Given the description of an element on the screen output the (x, y) to click on. 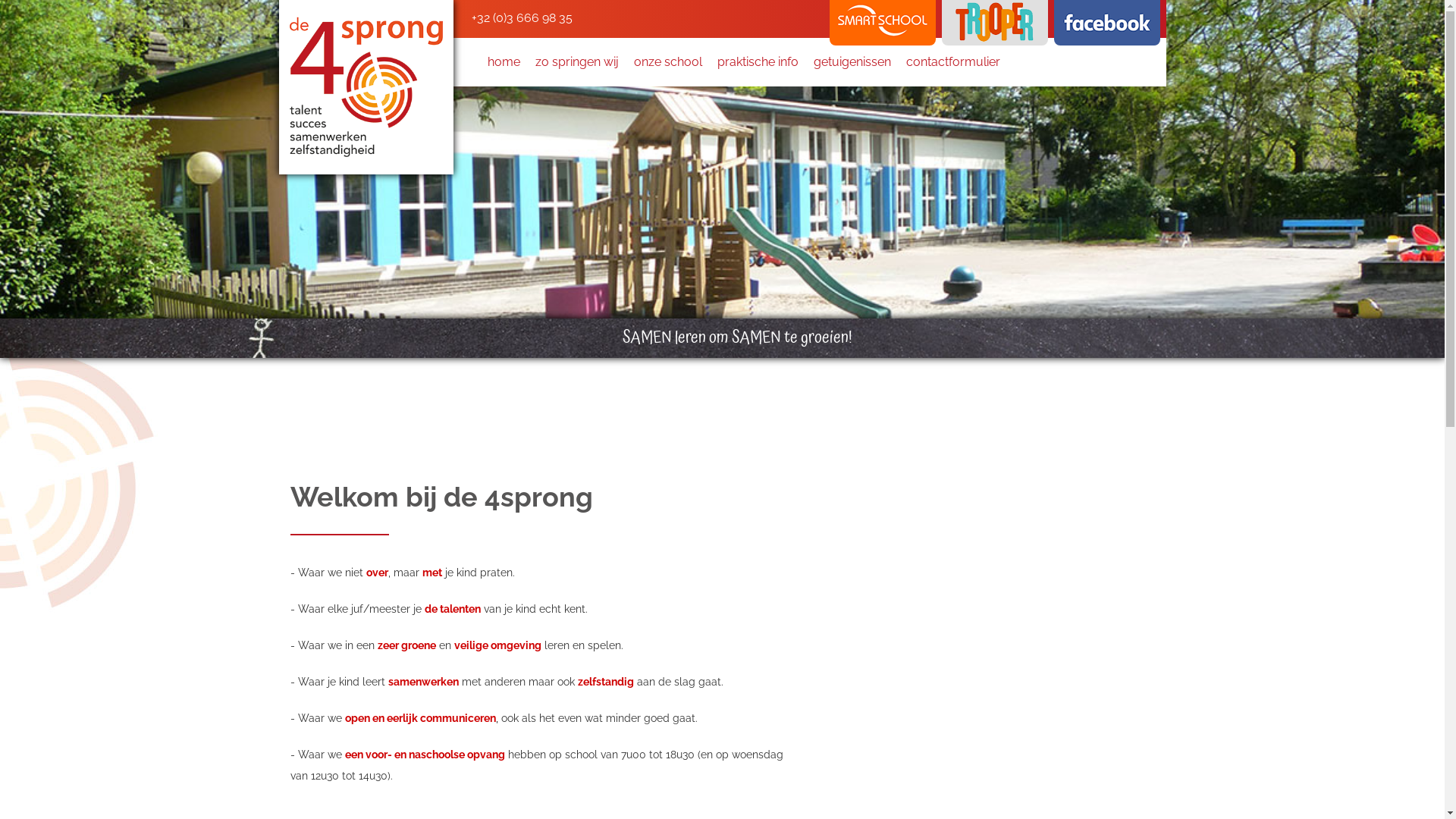
onze school Element type: text (667, 62)
getuigenissen Element type: text (851, 62)
 +32 (0)3 666 98 35 Element type: text (520, 17)
contactformulier Element type: text (952, 62)
home Element type: text (503, 62)
zo springen wij Element type: text (576, 62)
praktische info Element type: text (757, 62)
